Given the description of an element on the screen output the (x, y) to click on. 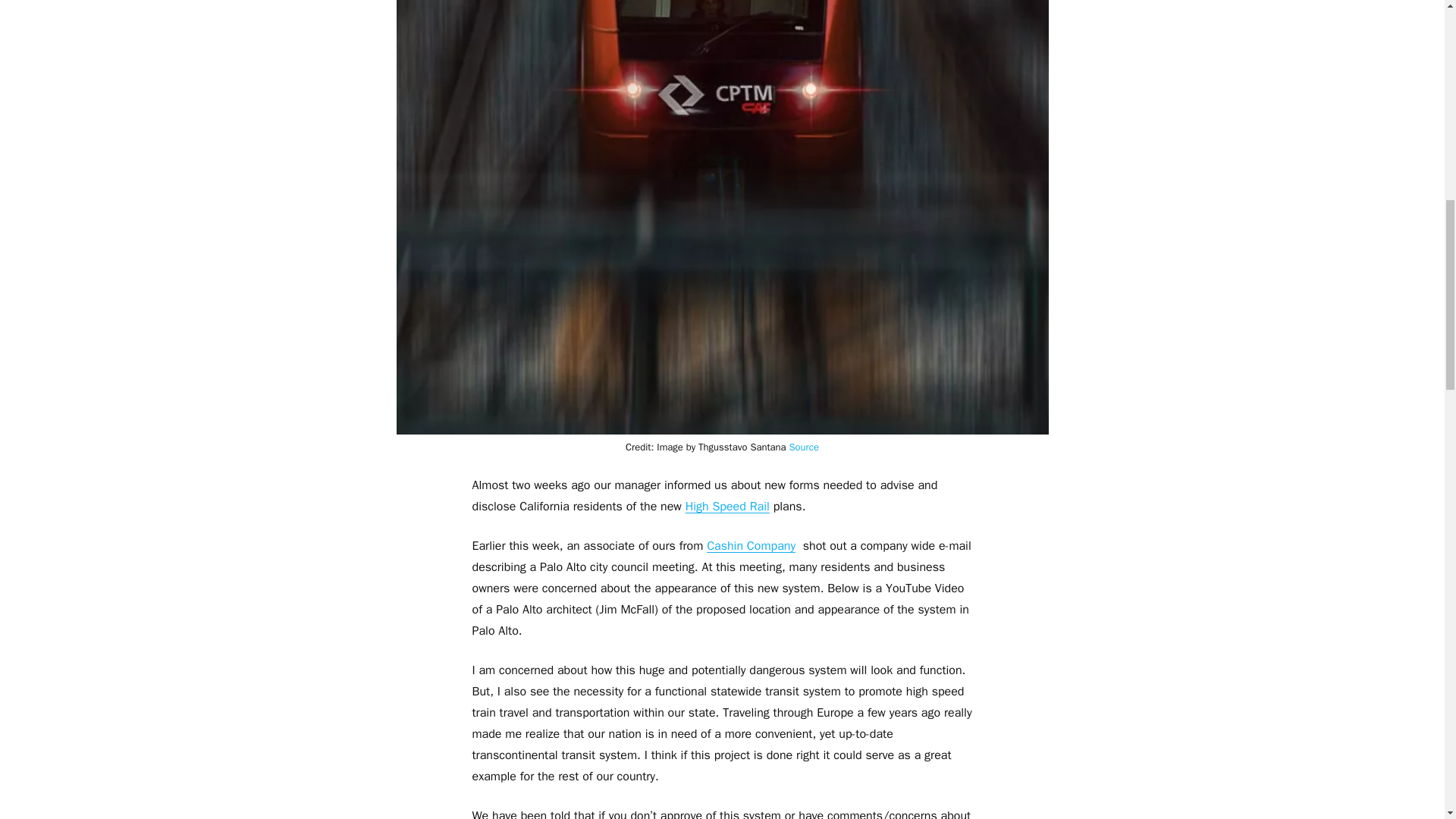
Cashin Company (750, 545)
Source (803, 446)
High Speed Rail (727, 506)
